Given the description of an element on the screen output the (x, y) to click on. 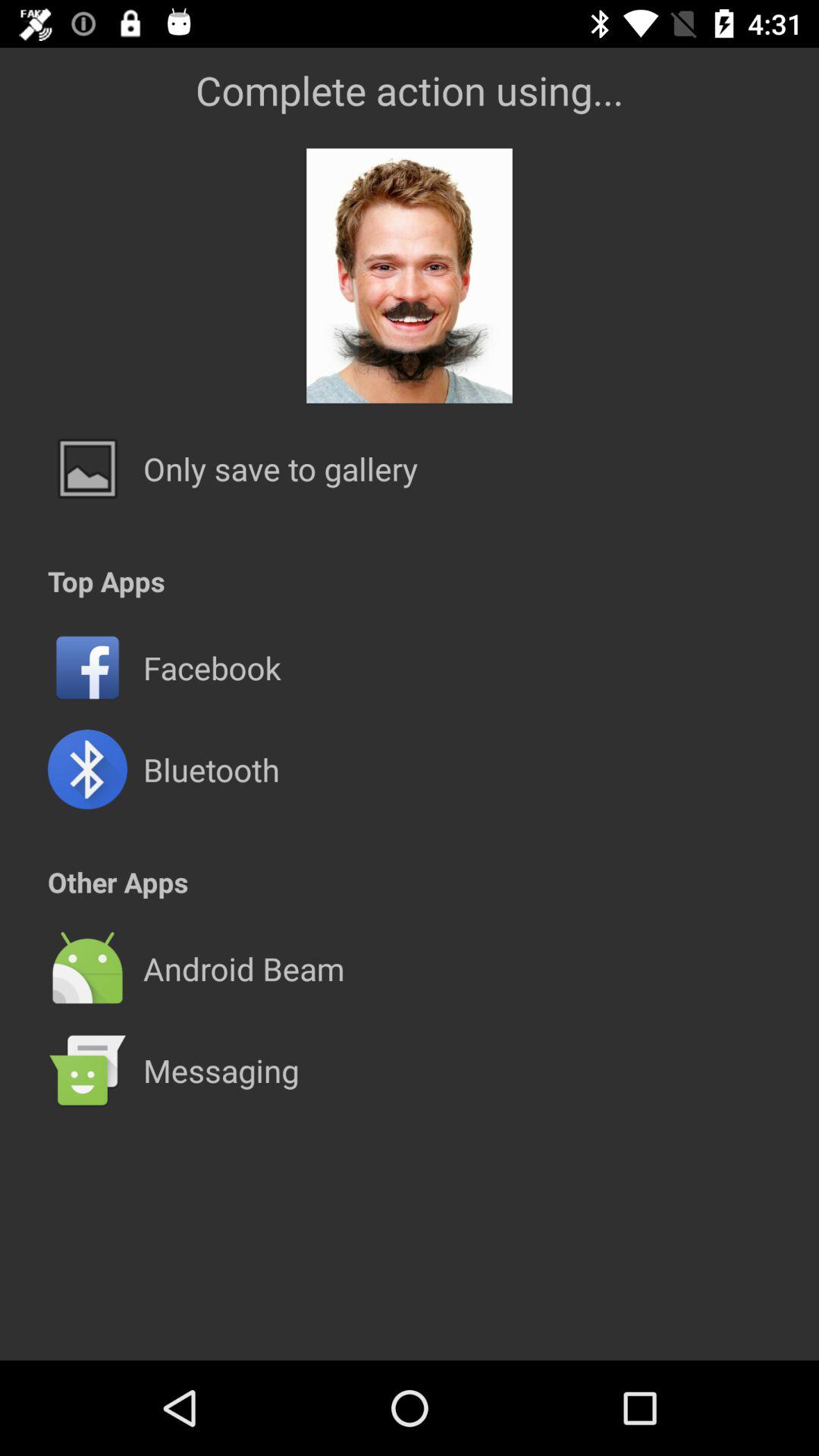
launch bluetooth item (211, 769)
